Given the description of an element on the screen output the (x, y) to click on. 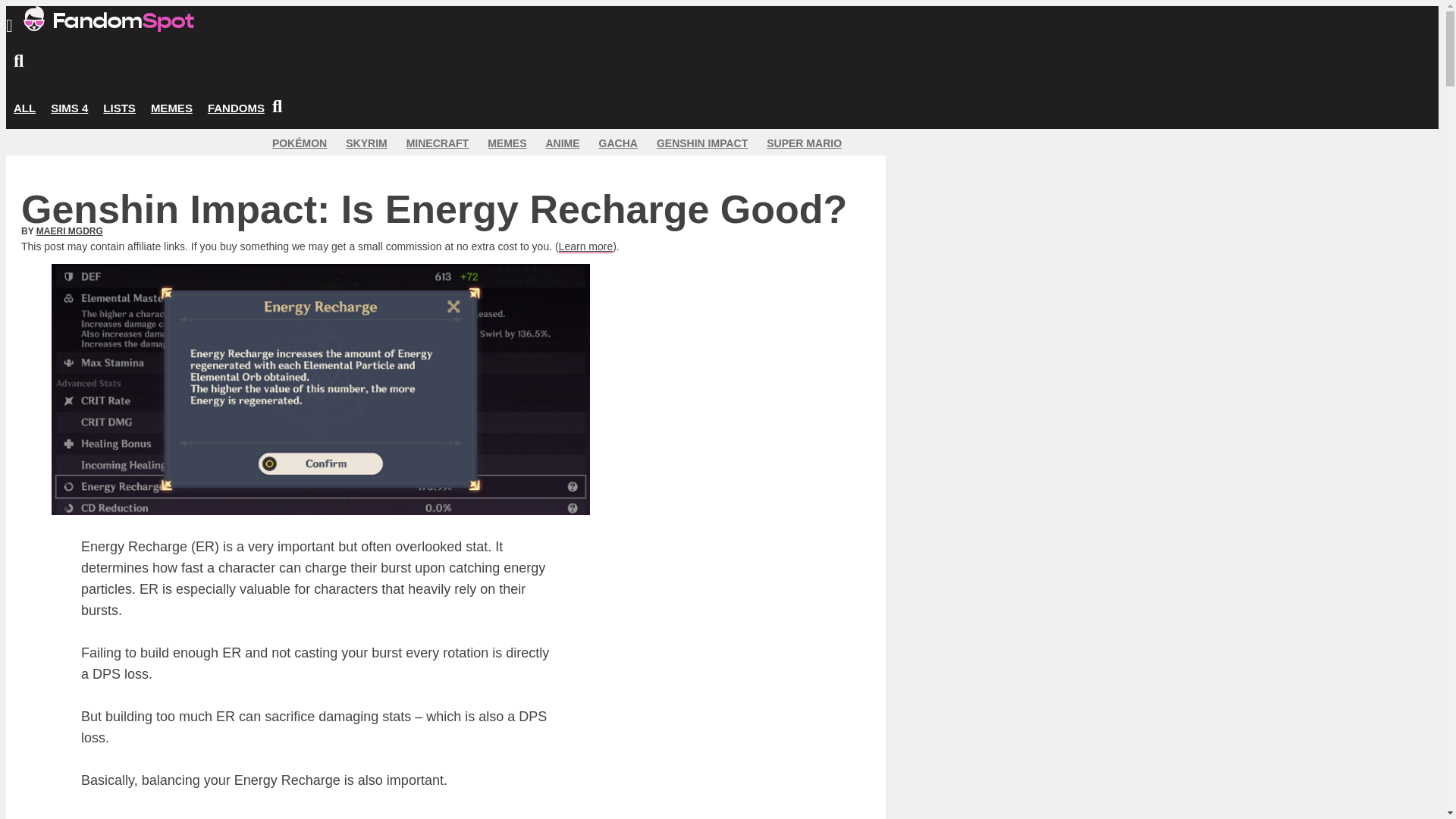
ANIME (561, 143)
FandomSpot (108, 18)
MINECRAFT (437, 143)
FandomSpot (108, 27)
MEMES (506, 143)
SUPER MARIO (804, 143)
SIMS 4 (69, 108)
GACHA (617, 143)
GENSHIN IMPACT (702, 143)
MEMES (171, 108)
Learn more (585, 246)
SKYRIM (366, 143)
MAERI MGDRG (69, 231)
FANDOMS (236, 108)
LISTS (119, 108)
